Given the description of an element on the screen output the (x, y) to click on. 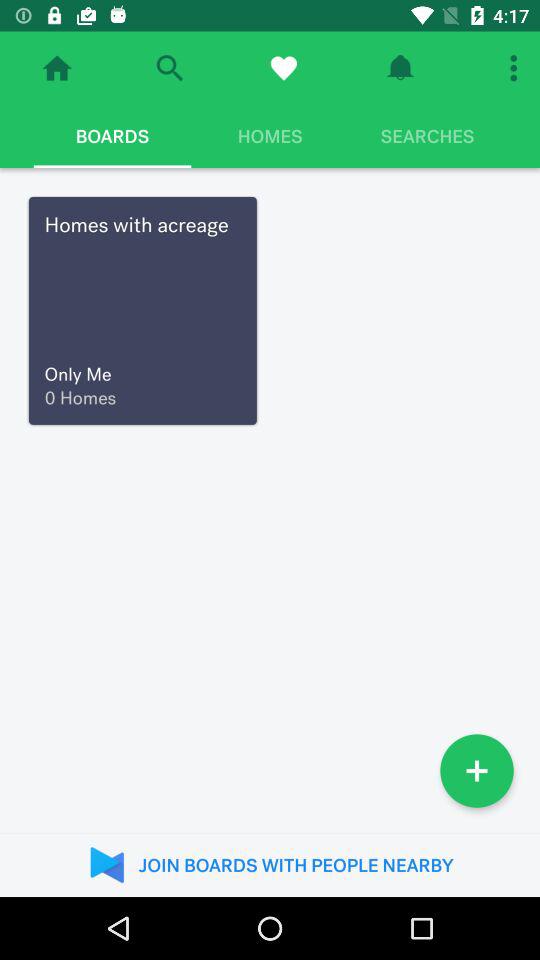
turn on the item below searches icon (477, 770)
